Given the description of an element on the screen output the (x, y) to click on. 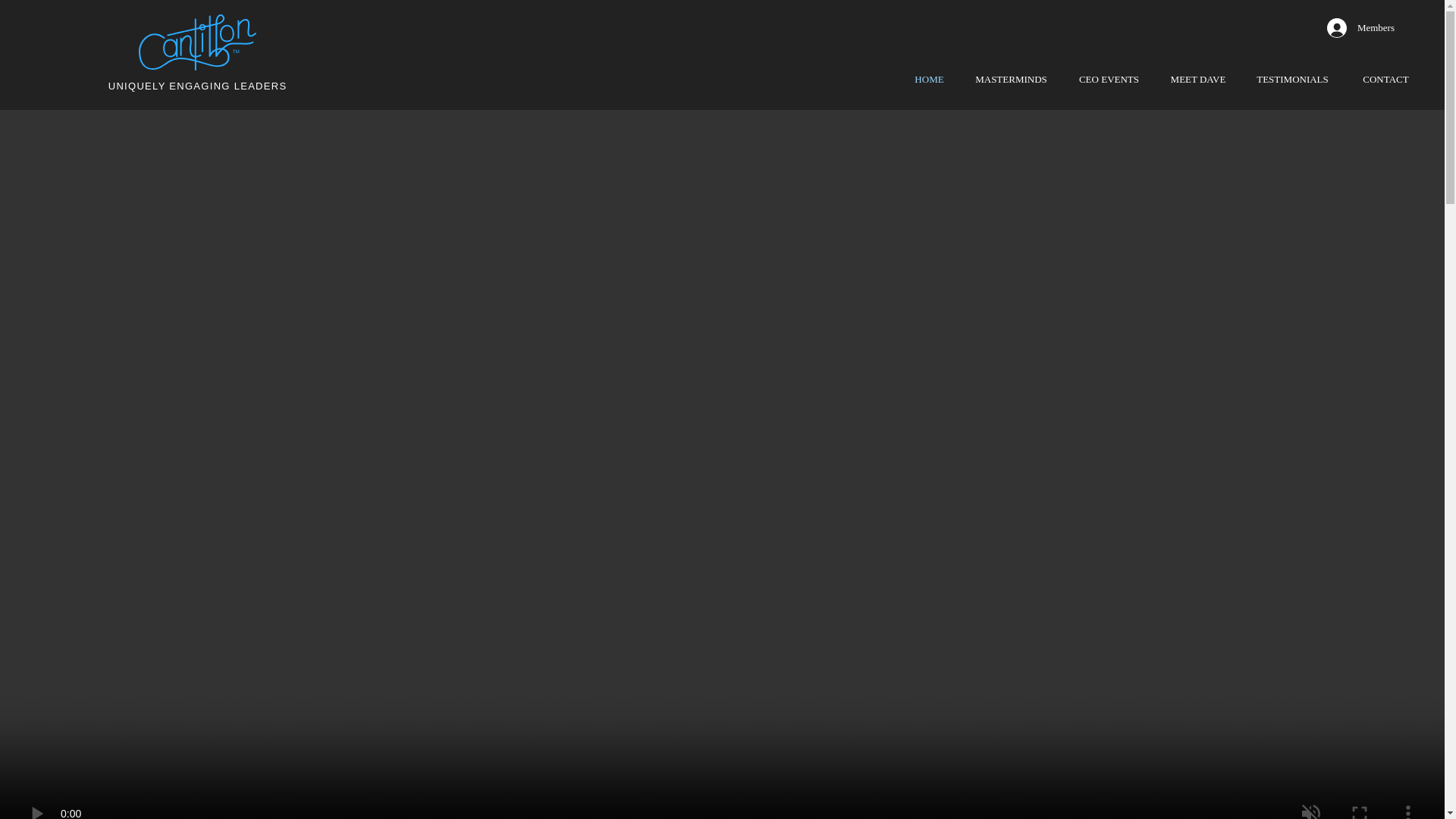
CEO EVENTS (1109, 79)
MEET DAVE (1198, 79)
CONTACT (1384, 79)
Members (1360, 27)
TESTIMONIALS (1291, 79)
HOME (928, 79)
MASTERMINDS (1010, 79)
